Given the description of an element on the screen output the (x, y) to click on. 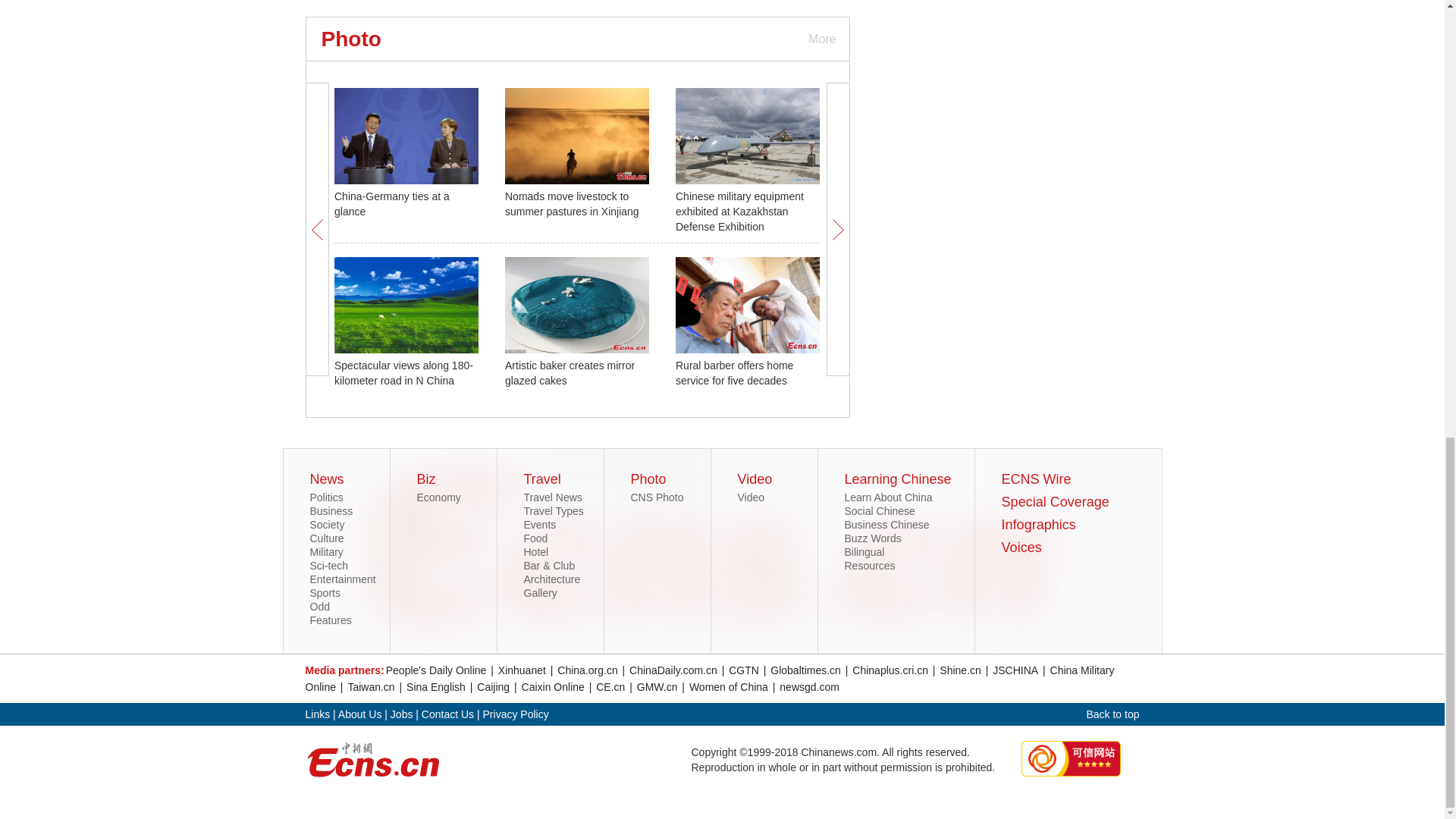
Artistic baker creates mirror glazed cakes (569, 372)
China-Germany ties at a glance (391, 203)
Spectacular views along 180-kilometer road in N China (403, 372)
Nomads move livestock to summer pastures in Xinjiang (572, 203)
